Given the description of an element on the screen output the (x, y) to click on. 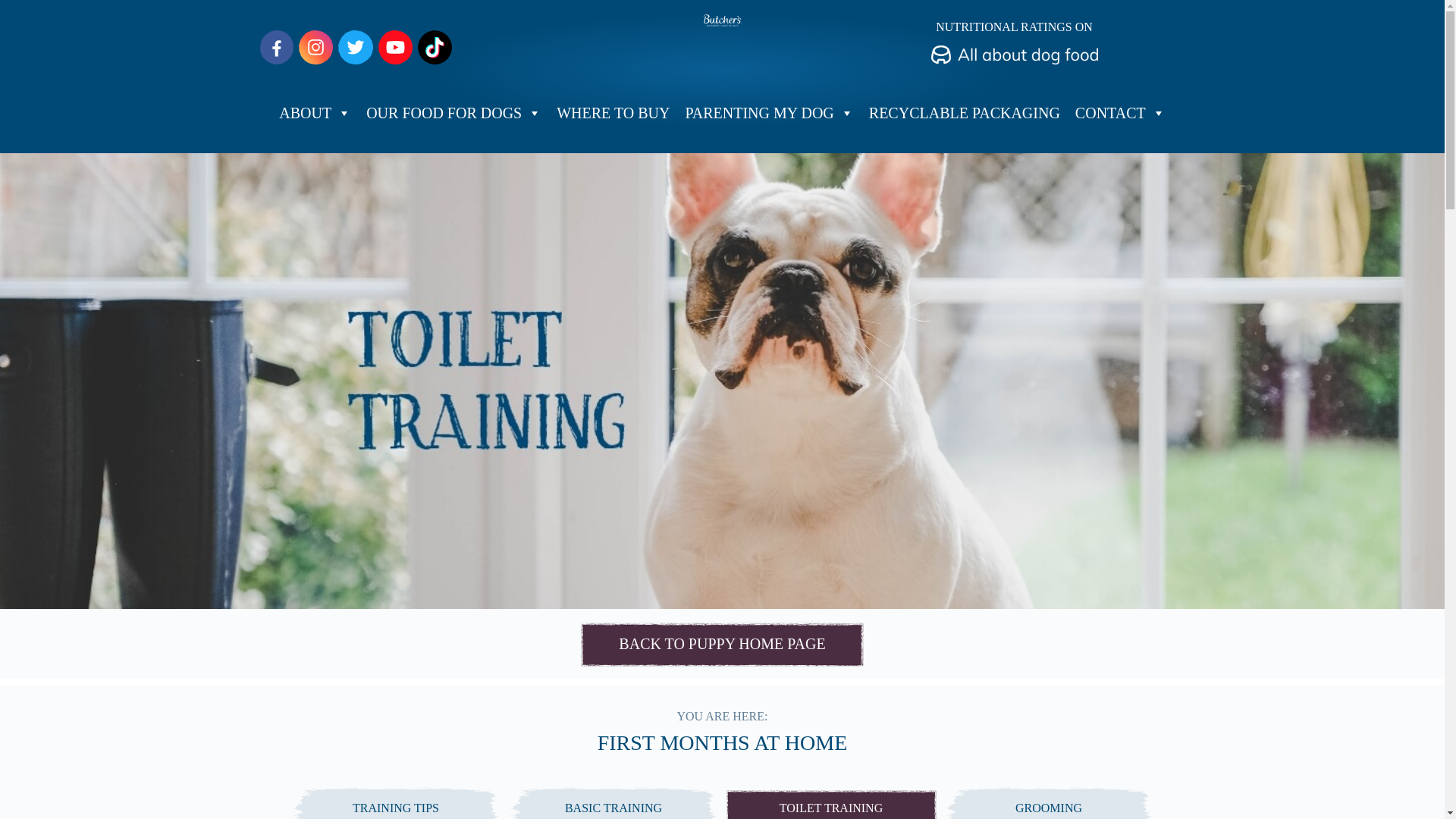
OUR FOOD FOR DOGS (453, 112)
NUTRITIONAL RATINGS ON (1014, 42)
ABOUT (314, 112)
